Given the description of an element on the screen output the (x, y) to click on. 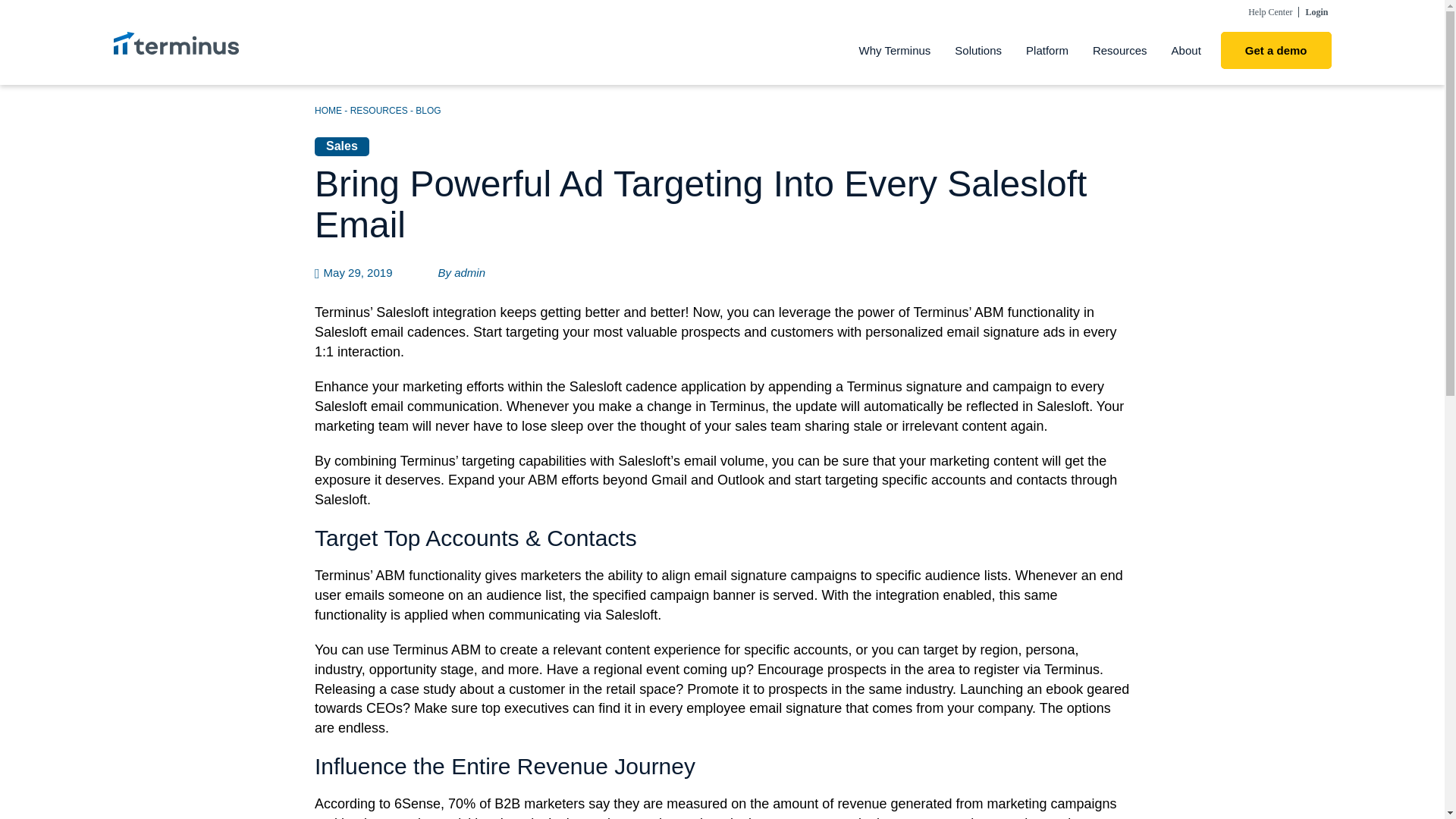
Solutions (977, 50)
Platform (1046, 50)
Why Terminus (895, 50)
